Given the description of an element on the screen output the (x, y) to click on. 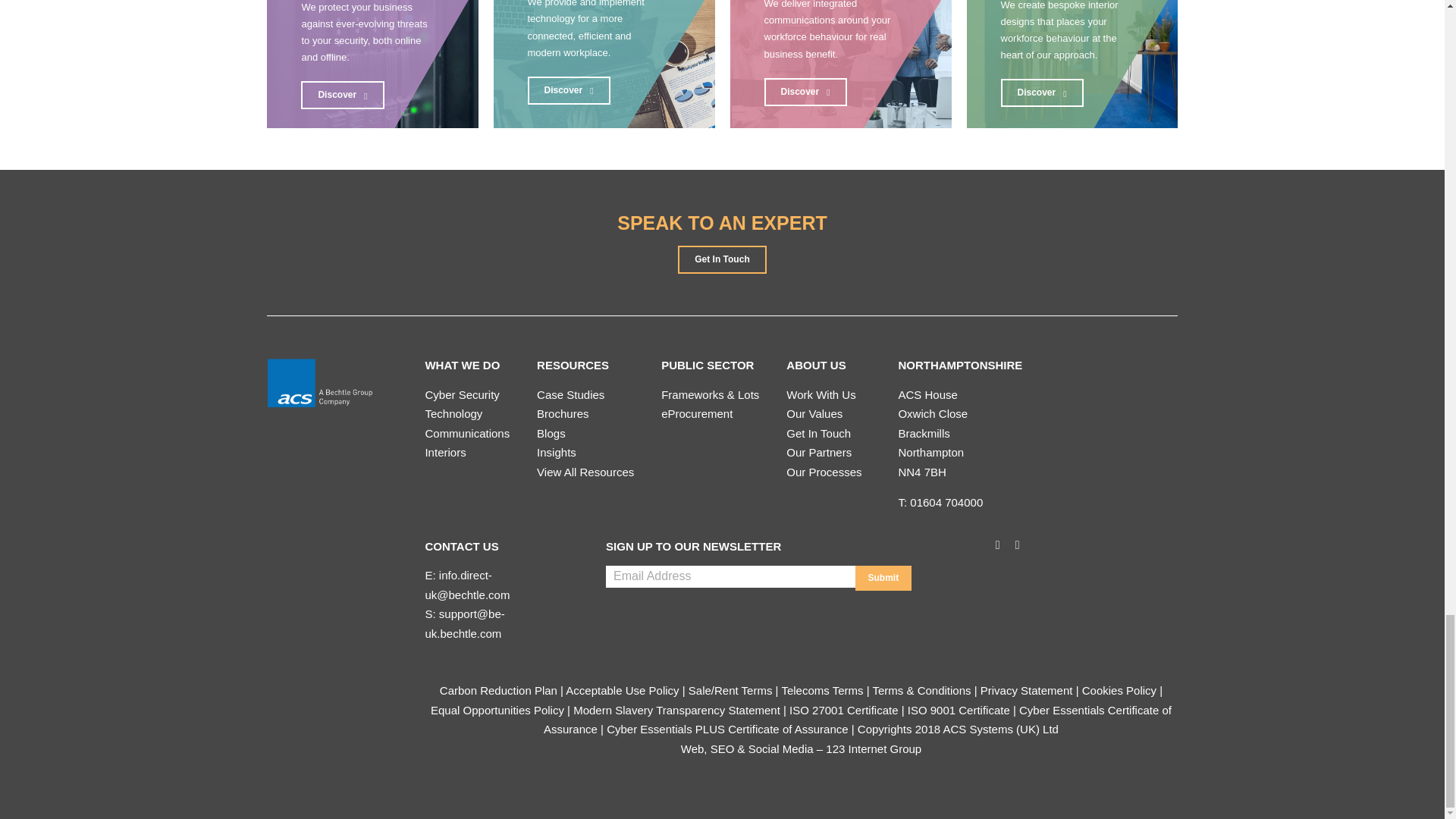
Submit (884, 577)
